Given the description of an element on the screen output the (x, y) to click on. 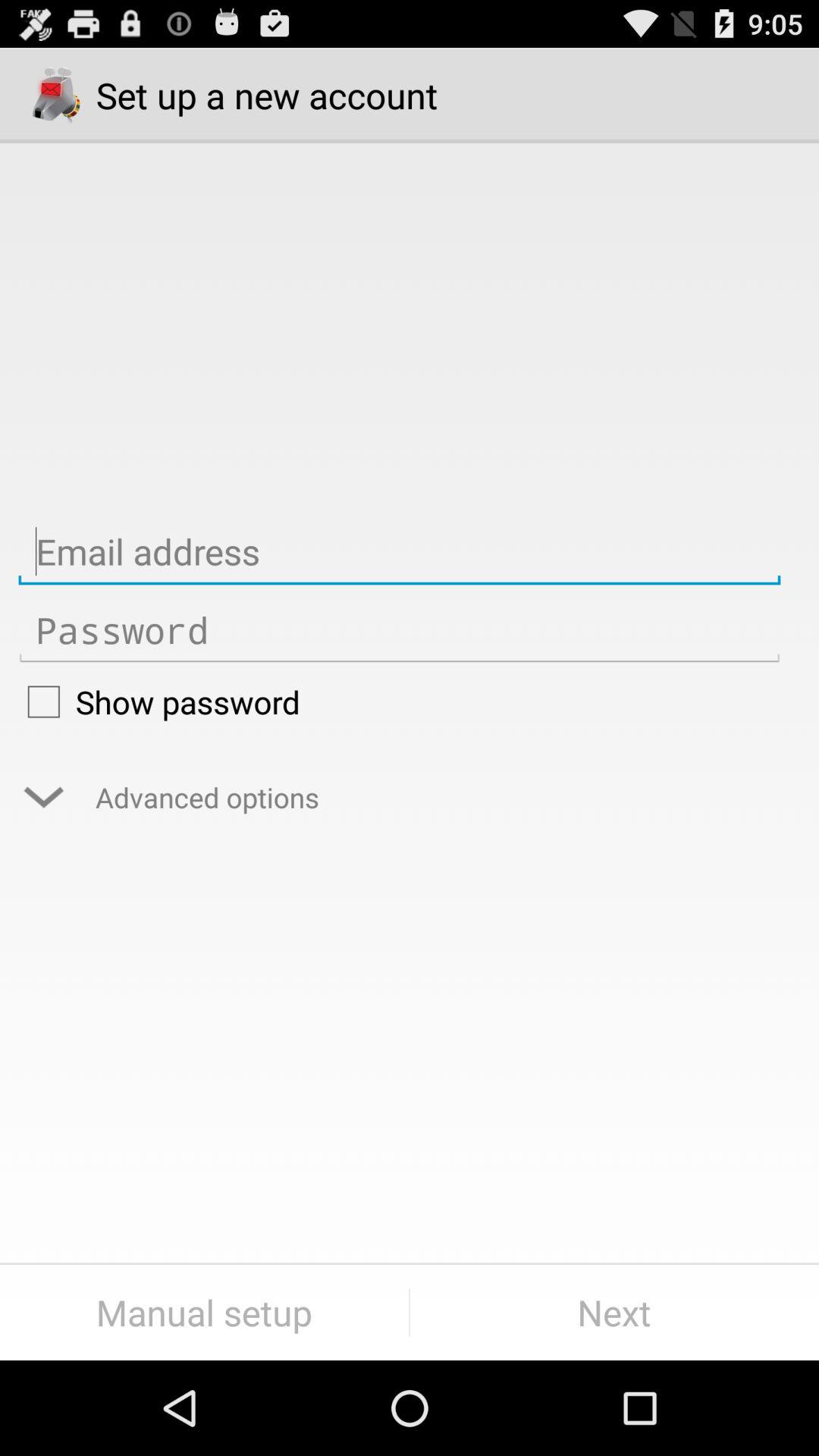
press the next icon (614, 1312)
